Given the description of an element on the screen output the (x, y) to click on. 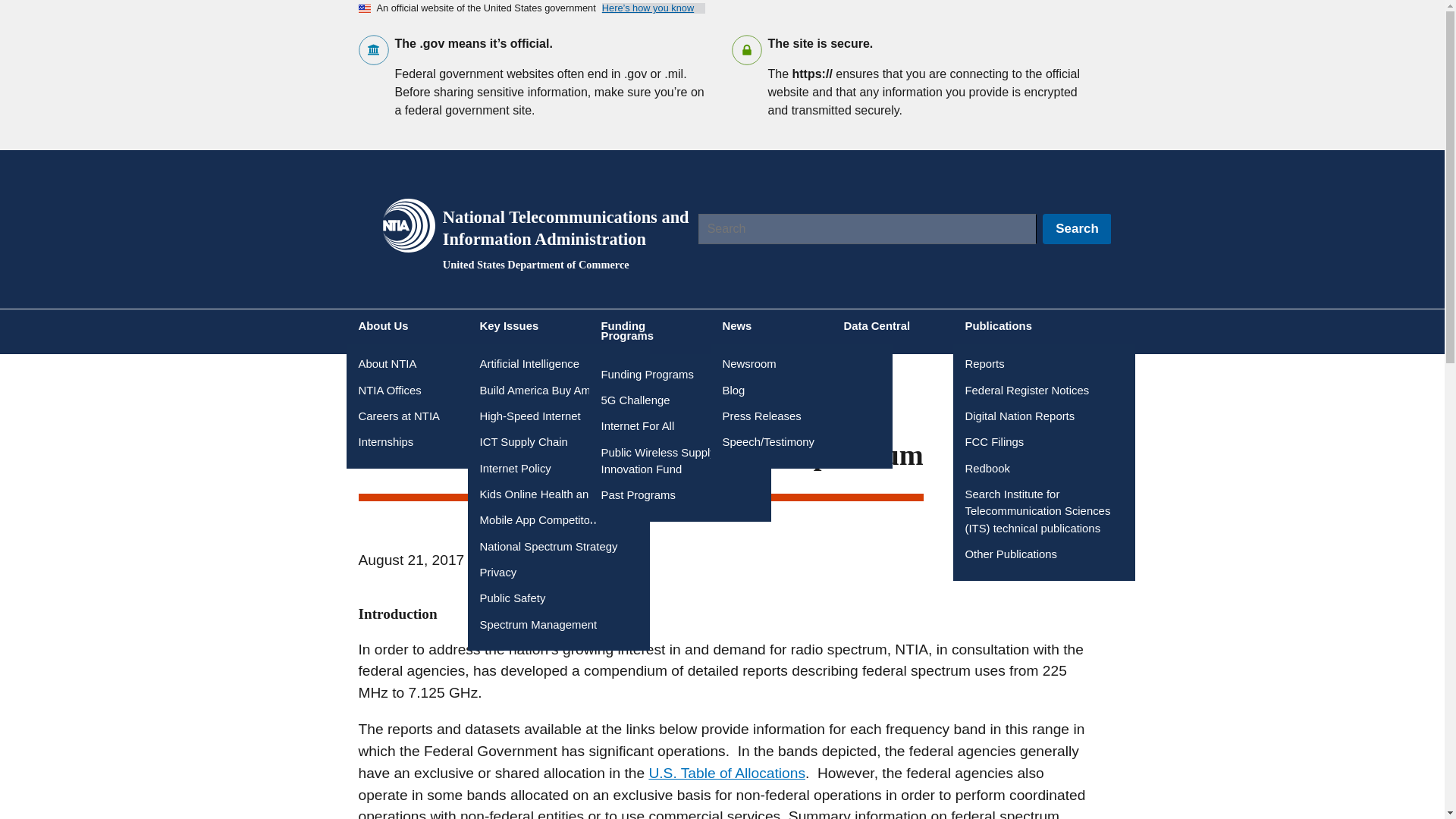
Internet Policy (514, 468)
Privacy (497, 572)
About Us (406, 326)
National Telecommunications and Information Administration (565, 228)
5G Challenge (634, 399)
Enter the terms you wish to search for. (866, 228)
Press Releases (761, 416)
About NTIA (387, 363)
Internet For All (636, 426)
Funding Programs (646, 374)
NTIA Offices (389, 390)
Funding Programs (649, 331)
Publications (1013, 326)
Past Programs (637, 494)
